Given the description of an element on the screen output the (x, y) to click on. 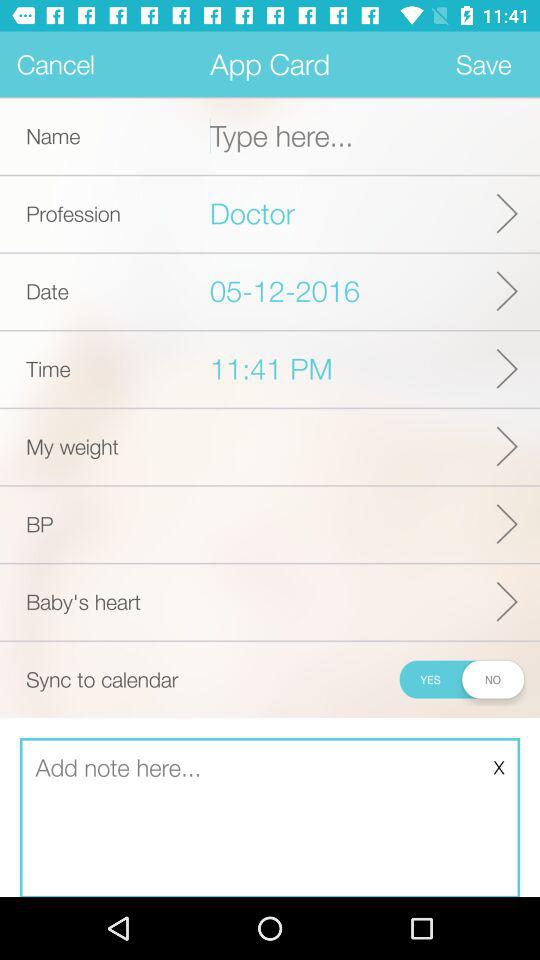
jump to x (498, 767)
